Given the description of an element on the screen output the (x, y) to click on. 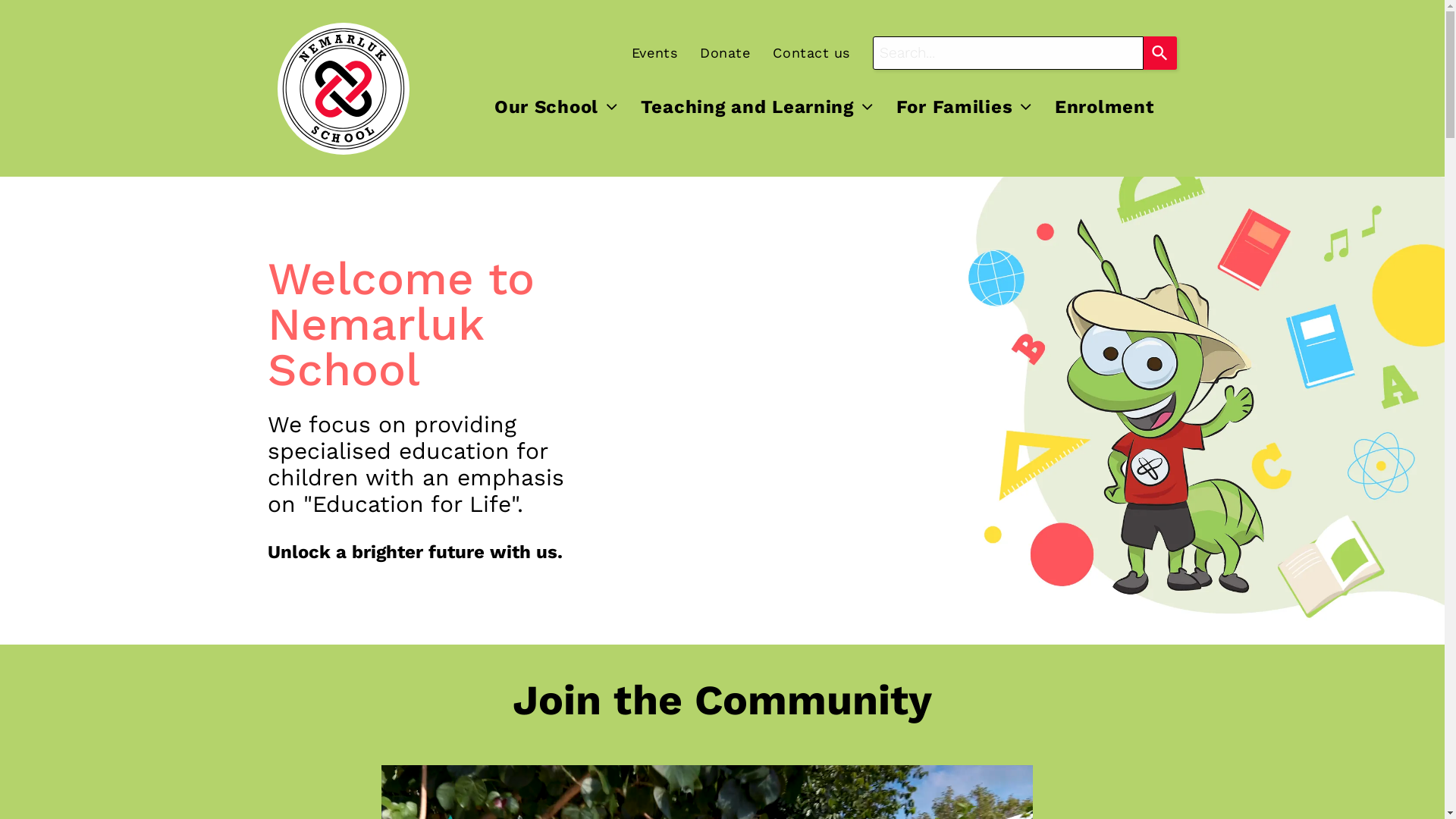
For Families Element type: text (963, 106)
Events Element type: text (642, 51)
Enrolment Element type: text (1103, 106)
Our School Element type: text (556, 106)
Contact us Element type: text (799, 51)
Teaching and Learning Element type: text (756, 106)
Donate Element type: text (713, 51)
